Given the description of an element on the screen output the (x, y) to click on. 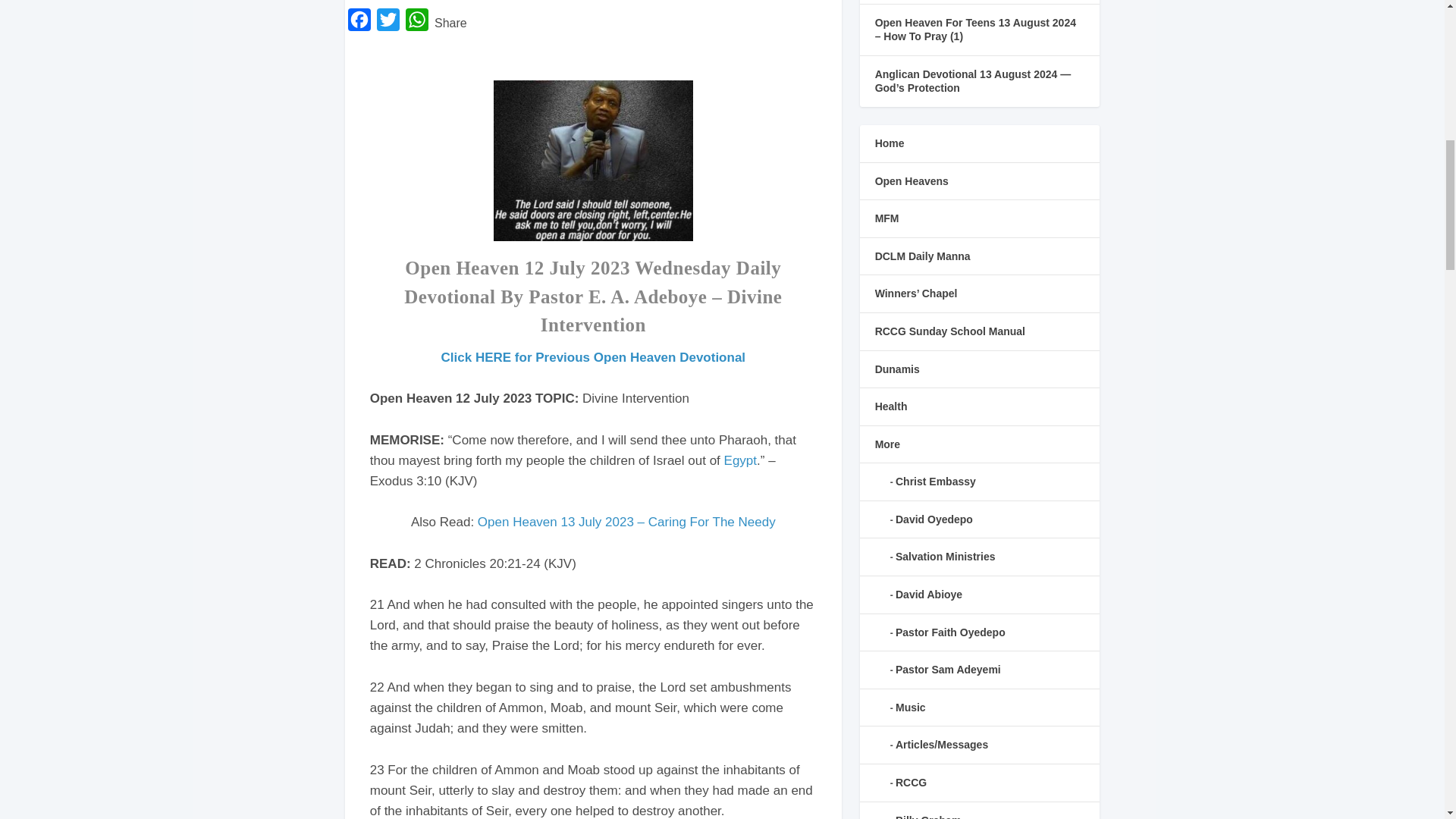
Facebook (359, 23)
Twitter (388, 23)
WhatsApp (416, 23)
